Given the description of an element on the screen output the (x, y) to click on. 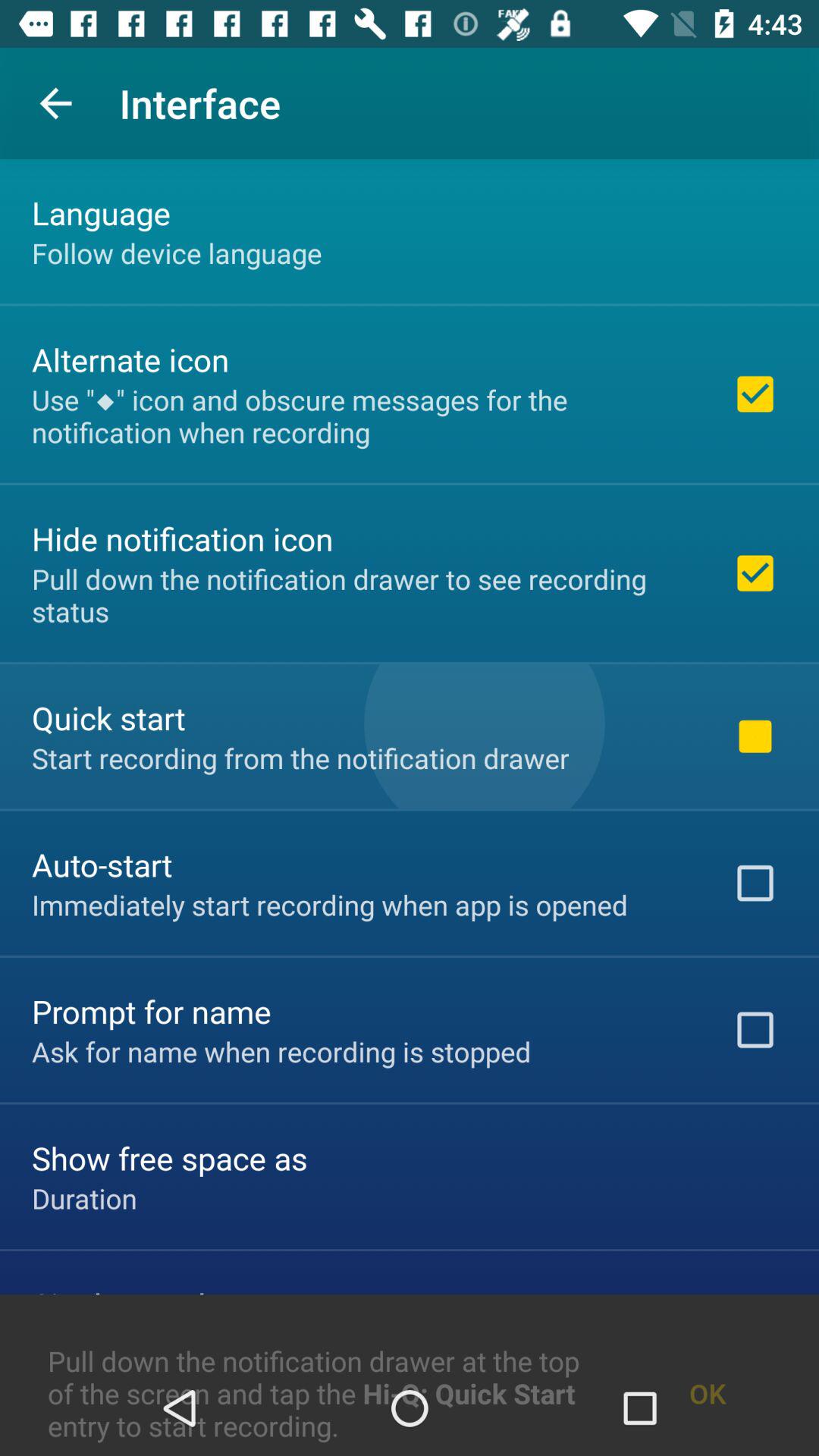
press show free space item (169, 1157)
